Given the description of an element on the screen output the (x, y) to click on. 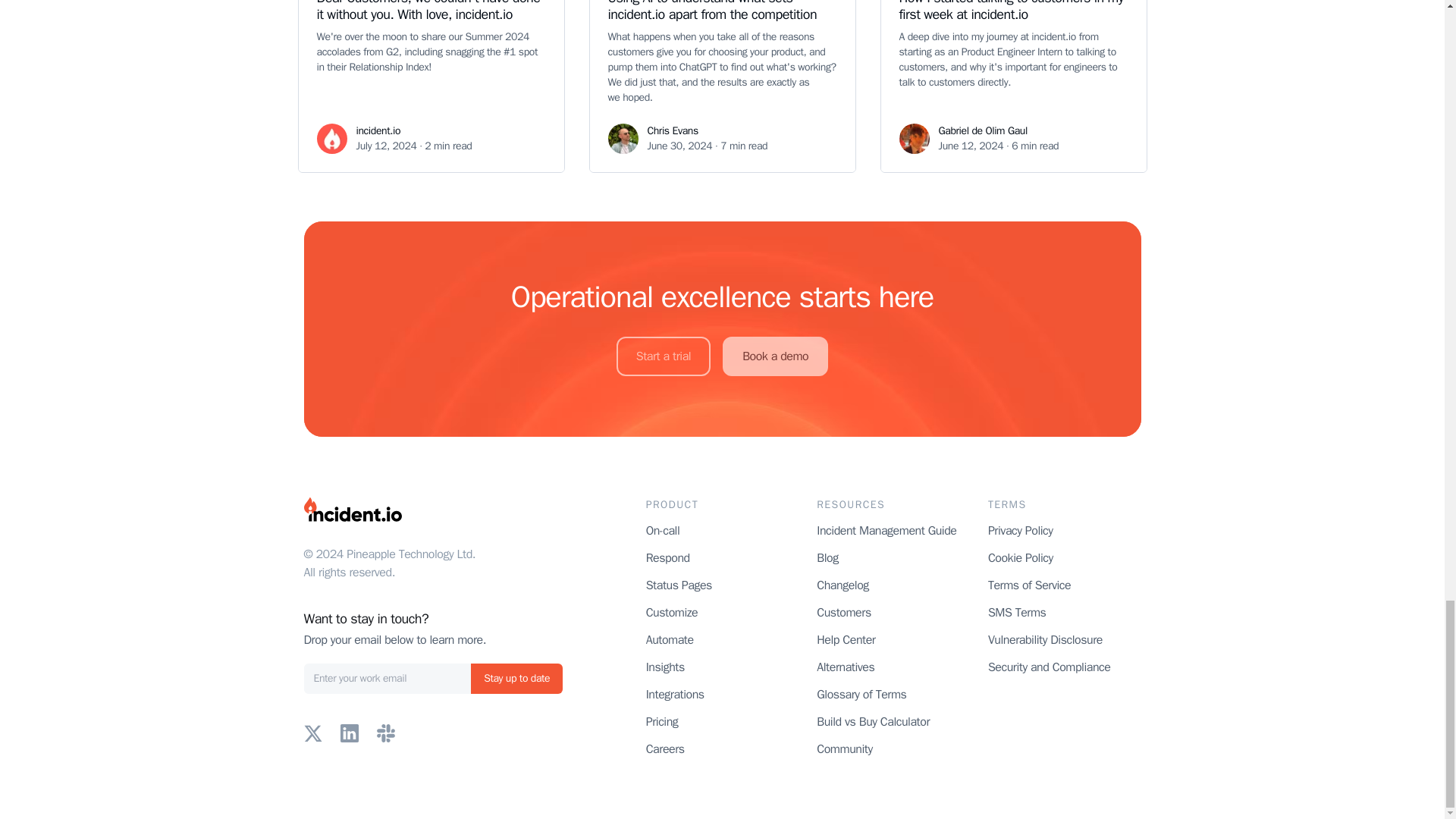
Stay up to date (516, 678)
